Given the description of an element on the screen output the (x, y) to click on. 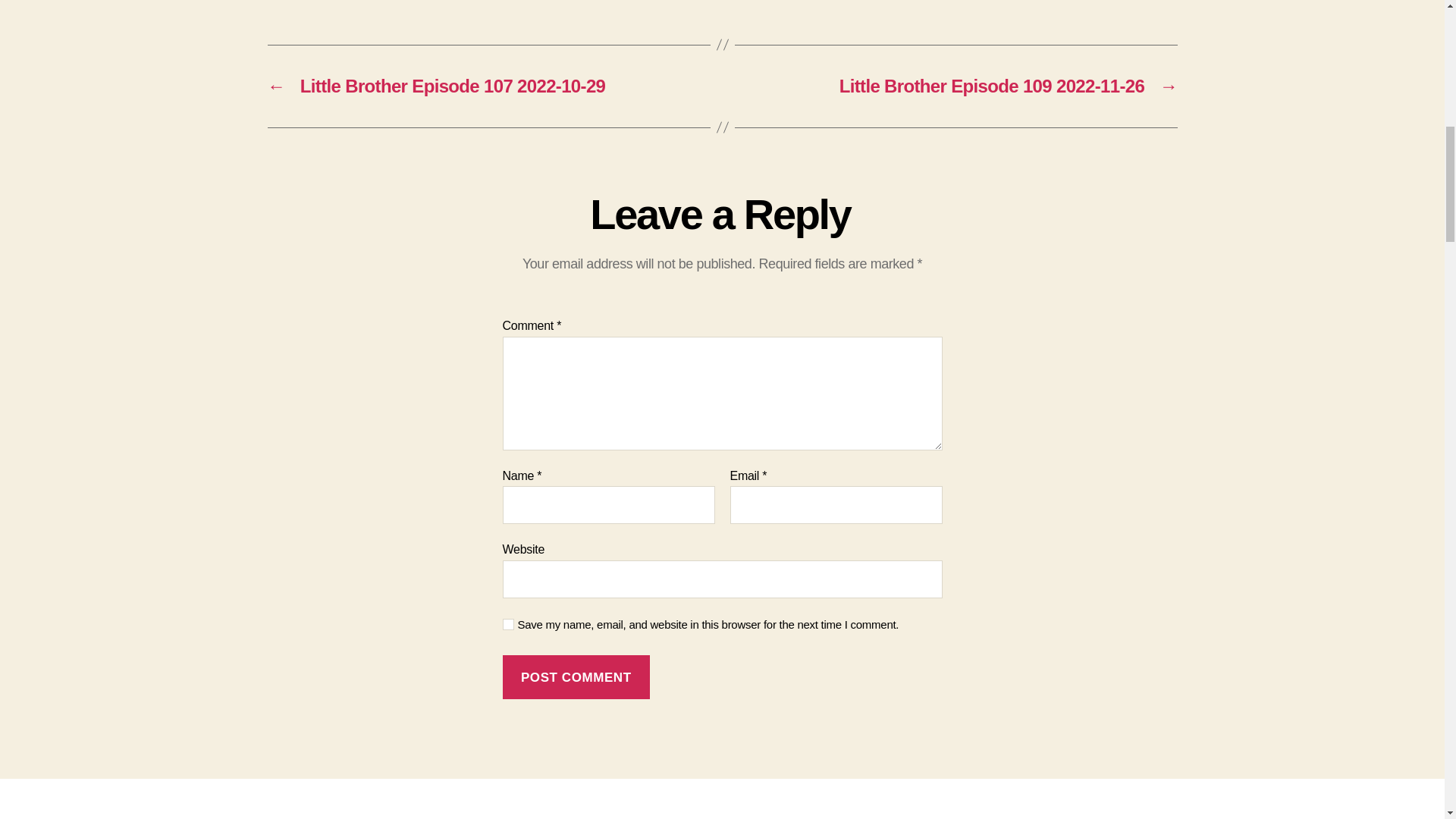
yes (507, 624)
Post Comment (575, 677)
Post Comment (575, 677)
